Given the description of an element on the screen output the (x, y) to click on. 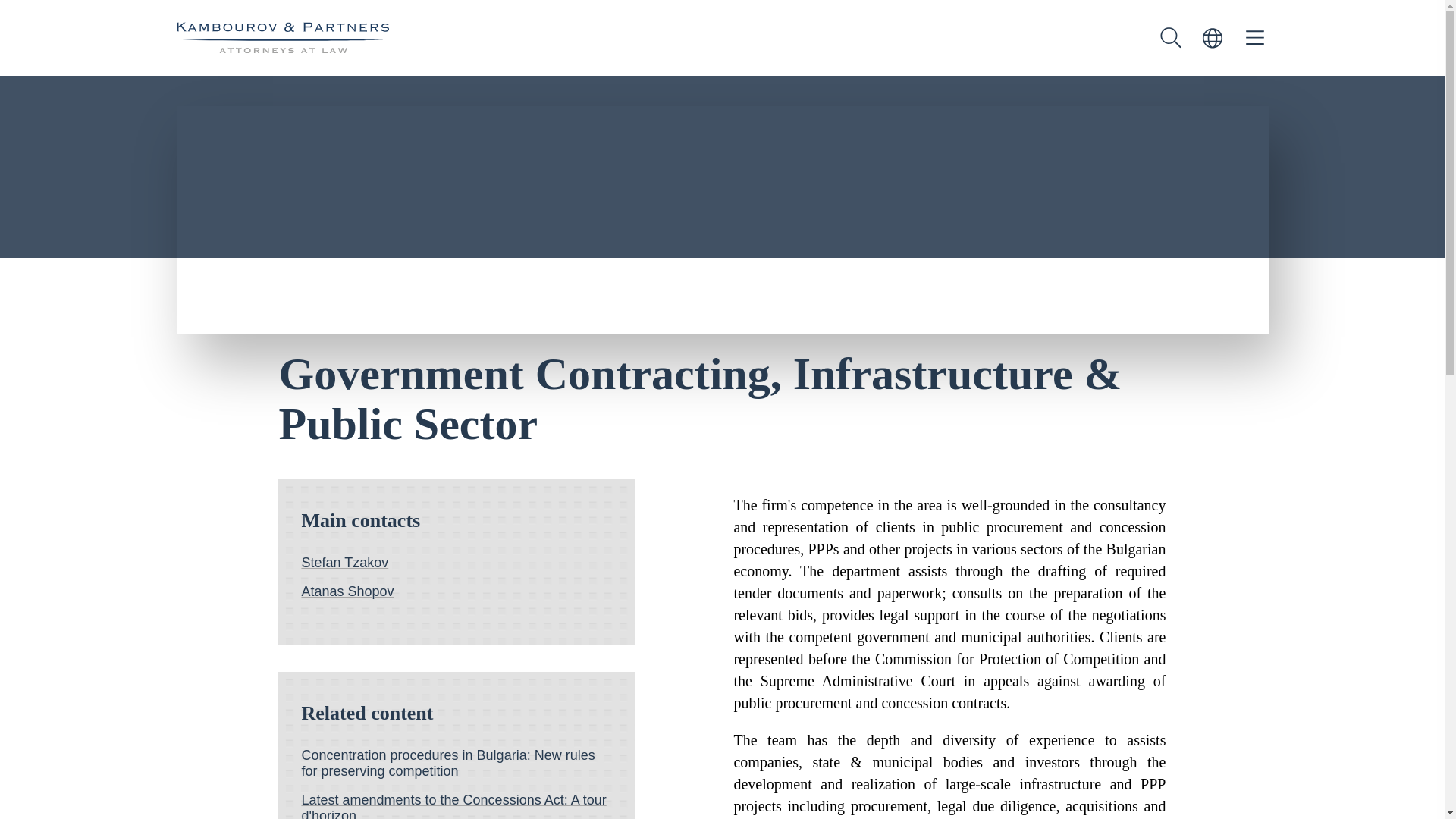
Language (1211, 37)
Search (1171, 37)
Atanas Shopov (456, 591)
Stefan Tzakov (456, 562)
Logo (282, 37)
Latest amendments to the Concessions Act: A tour d'horizon (456, 805)
Menu (1254, 37)
